Given the description of an element on the screen output the (x, y) to click on. 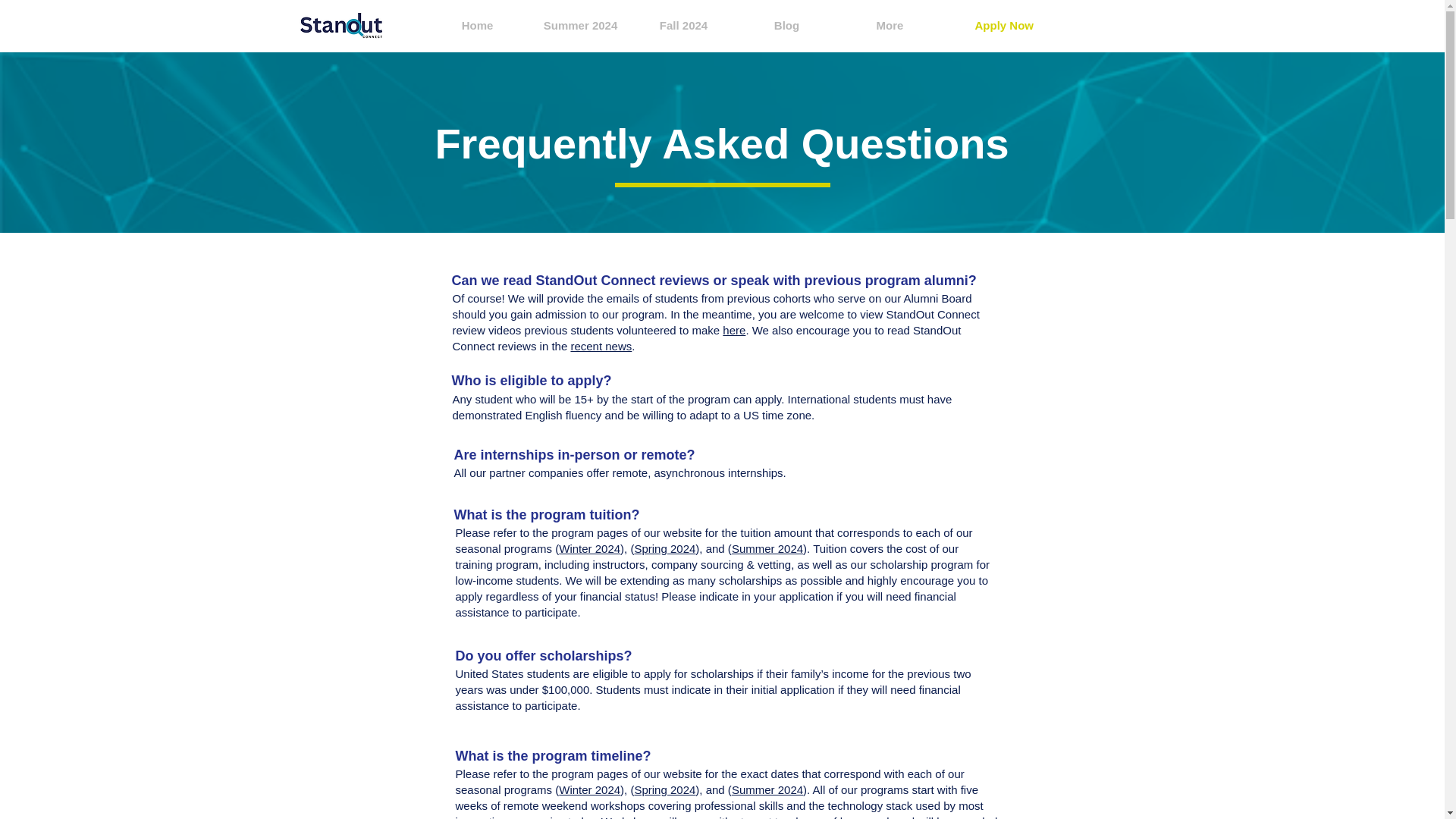
Winter 2024 (589, 789)
Apply Now (1012, 24)
Summer 2024 (767, 548)
recent news (600, 345)
Winter 2024 (589, 548)
Spring 2024 (664, 789)
here (733, 329)
Summer 2024 (580, 25)
Blog (786, 25)
Spring 2024 (664, 548)
Fall 2024 (683, 25)
Home (477, 25)
Summer 2024 (767, 789)
